Given the description of an element on the screen output the (x, y) to click on. 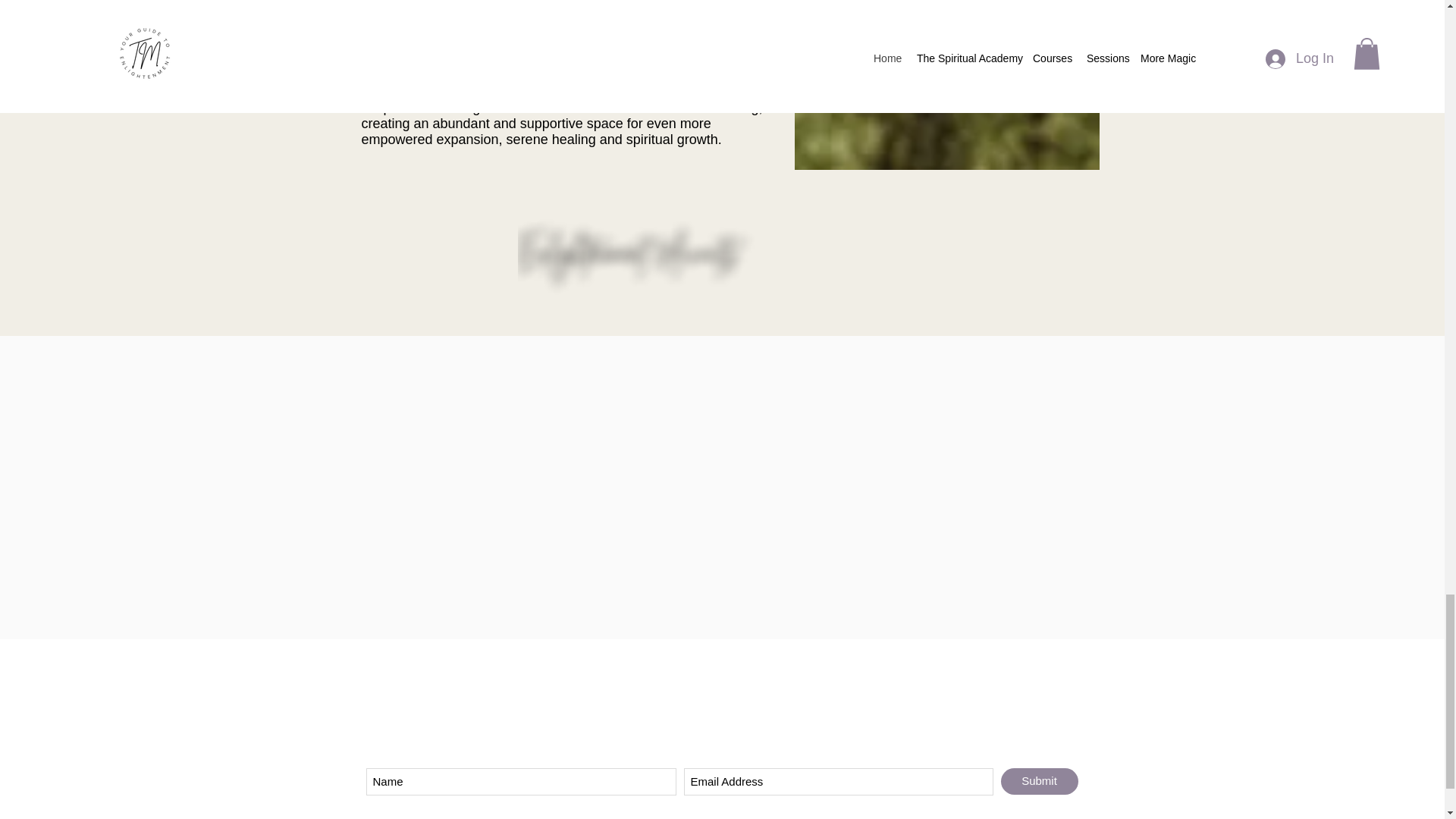
Submit (1039, 781)
Terri mytophe standing in a feild with her hand on her heart (946, 84)
